Given the description of an element on the screen output the (x, y) to click on. 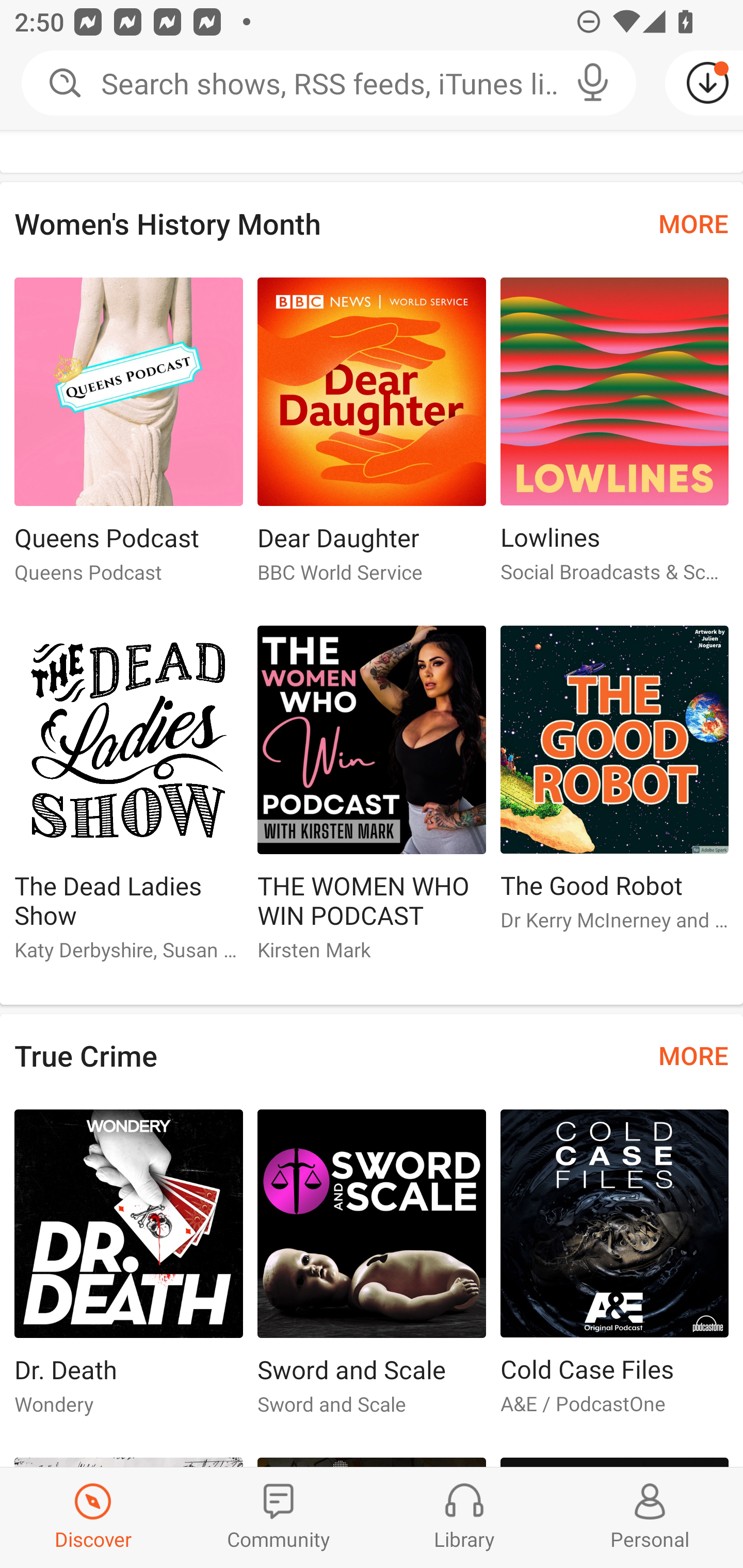
MORE (693, 222)
Queens Podcast Queens Podcast Queens Podcast (128, 438)
Dear Daughter Dear Daughter BBC World Service (371, 438)
MORE (693, 1054)
Dr. Death Dr. Death Wondery (128, 1270)
Sword and Scale Sword and Scale Sword and Scale (371, 1270)
Cold Case Files Cold Case Files A&E / PodcastOne (614, 1270)
Discover (92, 1517)
Community (278, 1517)
Library (464, 1517)
Profiles and Settings Personal (650, 1517)
